Given the description of an element on the screen output the (x, y) to click on. 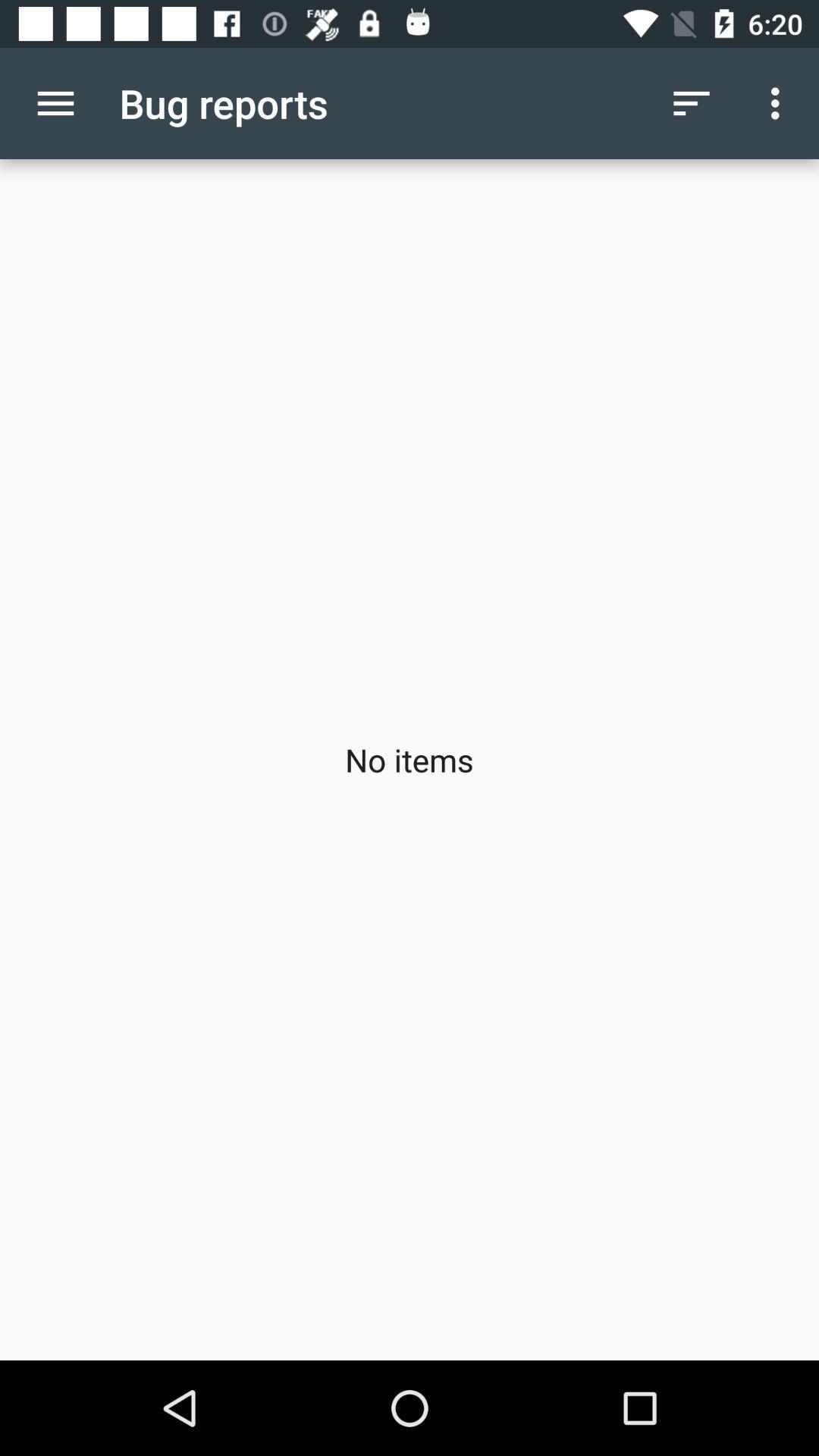
open item next to the bug reports app (691, 103)
